Given the description of an element on the screen output the (x, y) to click on. 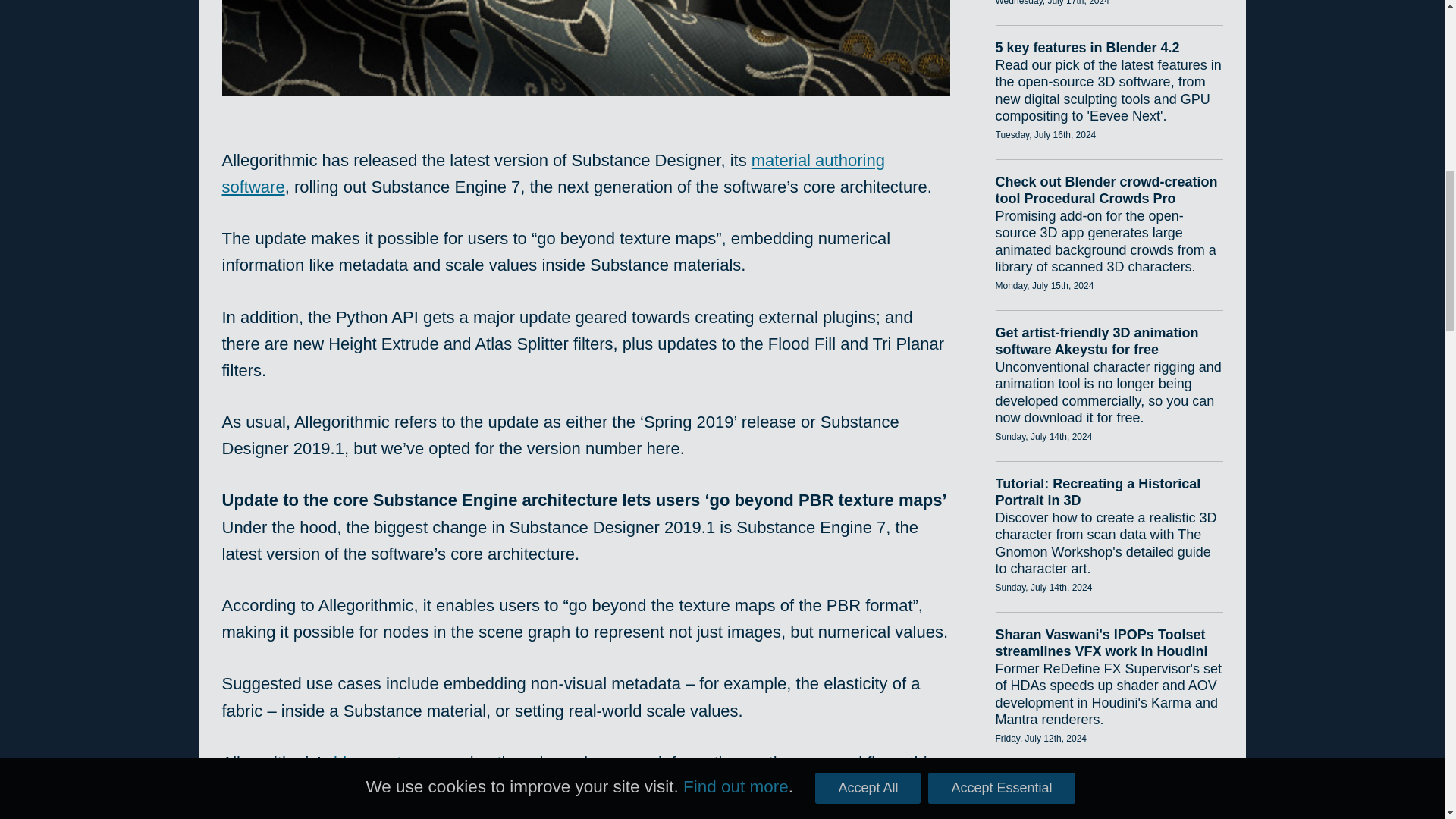
material authoring software (552, 173)
blog post (367, 762)
